Given the description of an element on the screen output the (x, y) to click on. 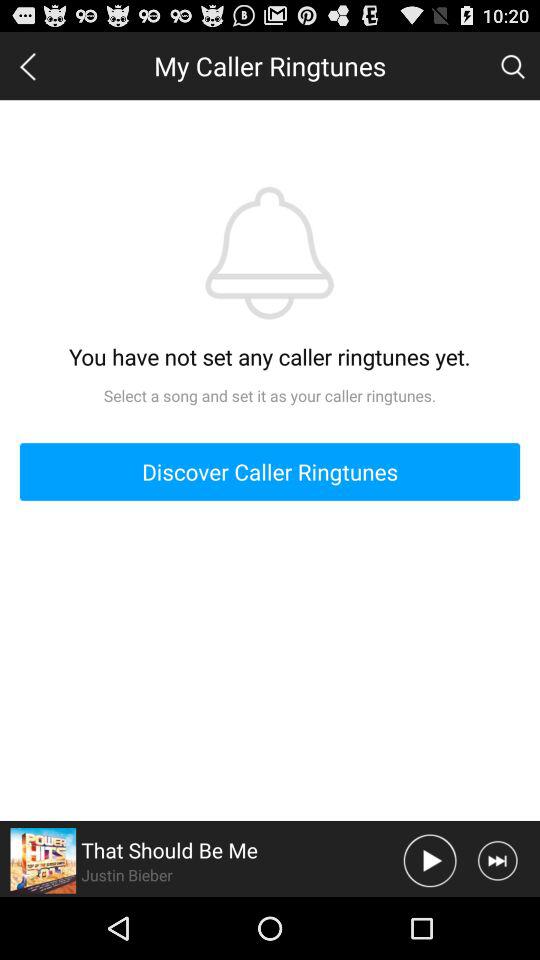
search ringtone (512, 65)
